Given the description of an element on the screen output the (x, y) to click on. 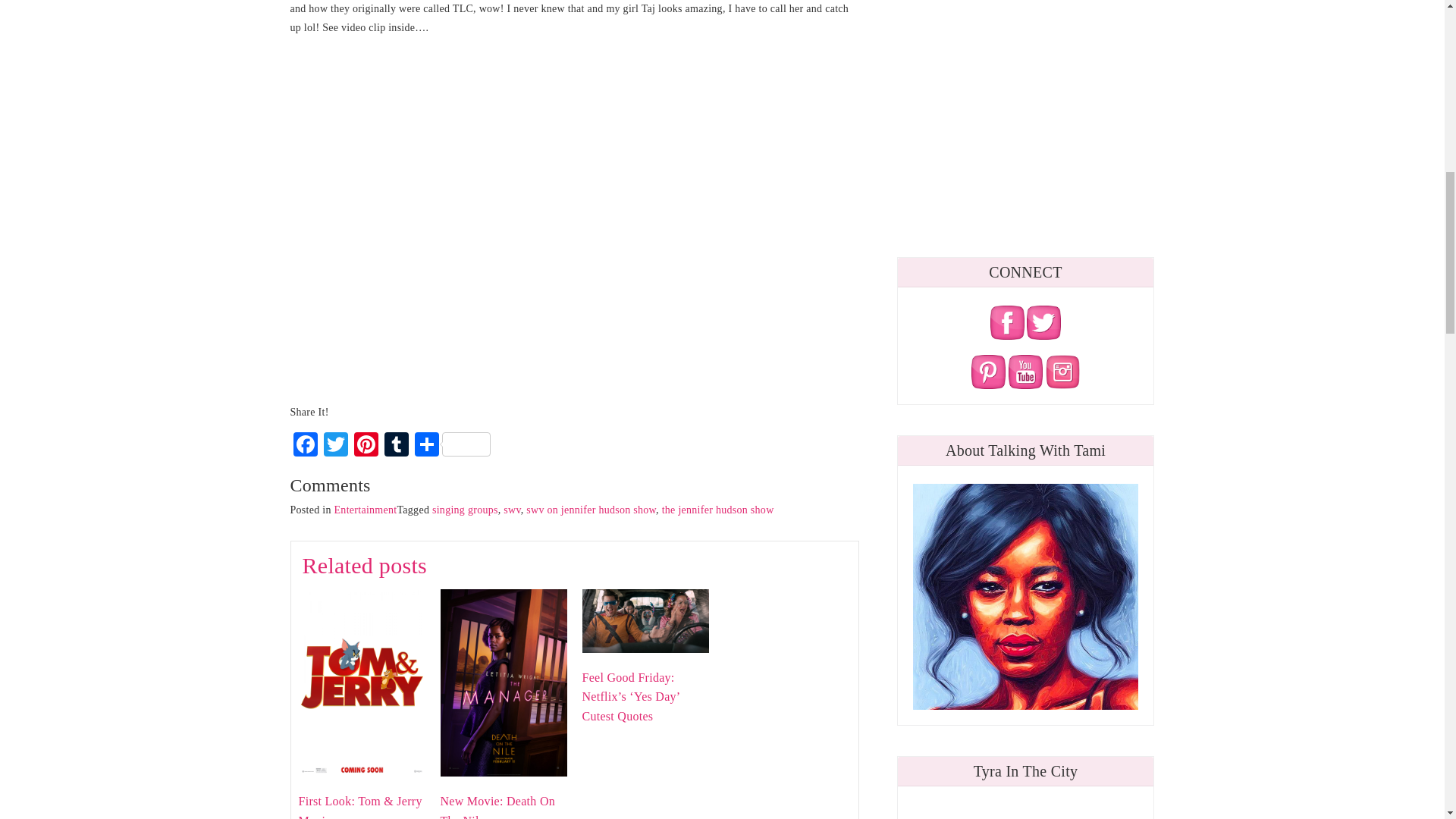
Facebook (304, 446)
New Movie: Death On The Nile (496, 806)
Twitter (335, 446)
New Movie: Death On The Nile (502, 681)
Tumblr (395, 446)
Tumblr (395, 446)
Pinterest (365, 446)
New Movie: Death On The Nile (496, 806)
Share (451, 446)
swv on jennifer hudson show (590, 509)
Facebook (304, 446)
swv (512, 509)
Twitter (335, 446)
the jennifer hudson show (718, 509)
